Given the description of an element on the screen output the (x, y) to click on. 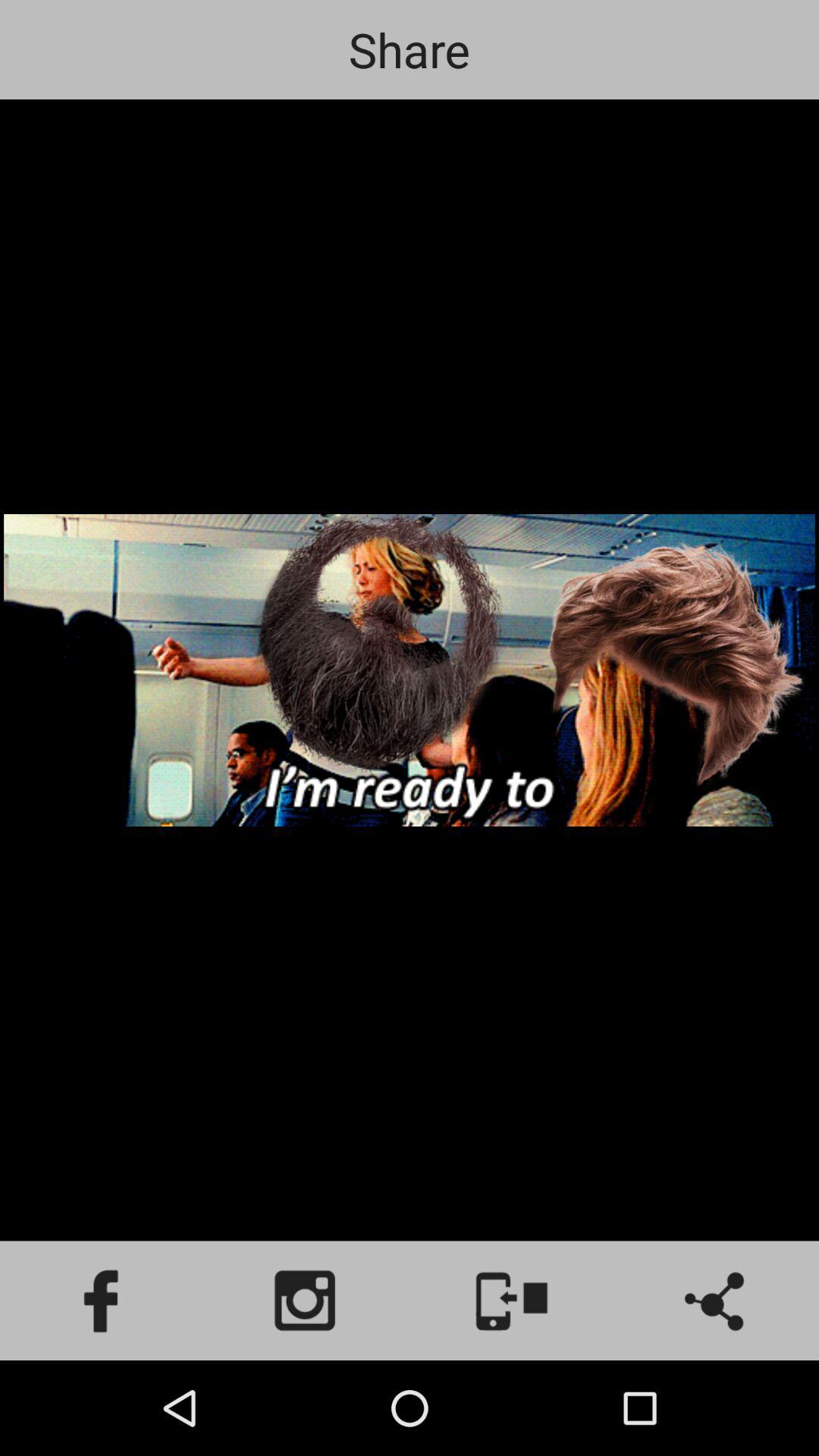
share image (716, 1300)
